Given the description of an element on the screen output the (x, y) to click on. 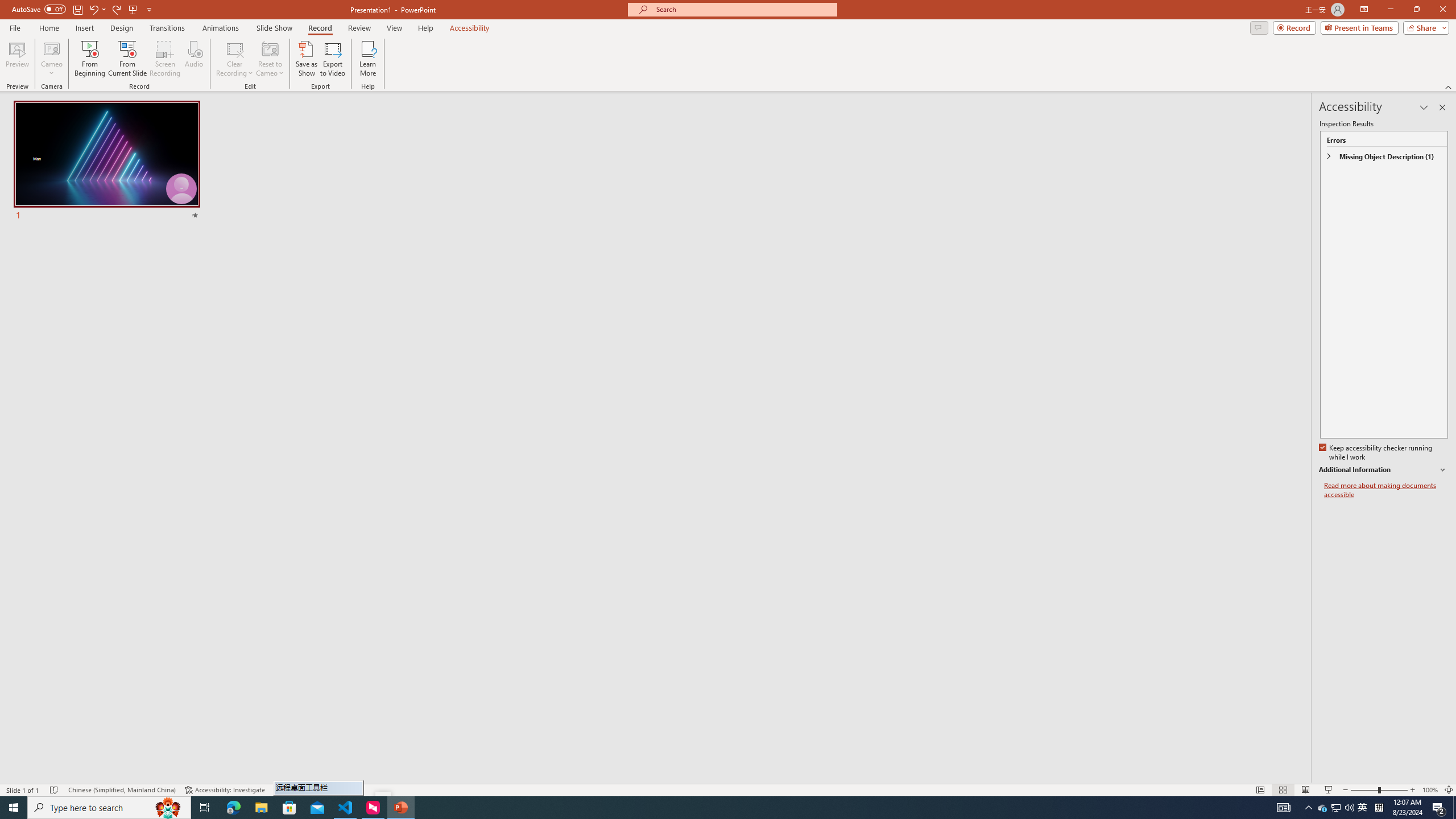
Read more about making documents accessible (1385, 489)
Accessibility Checker Accessibility: Investigate (224, 790)
Preview (17, 58)
Keep accessibility checker running while I work (1376, 452)
Cameo (51, 58)
